Given the description of an element on the screen output the (x, y) to click on. 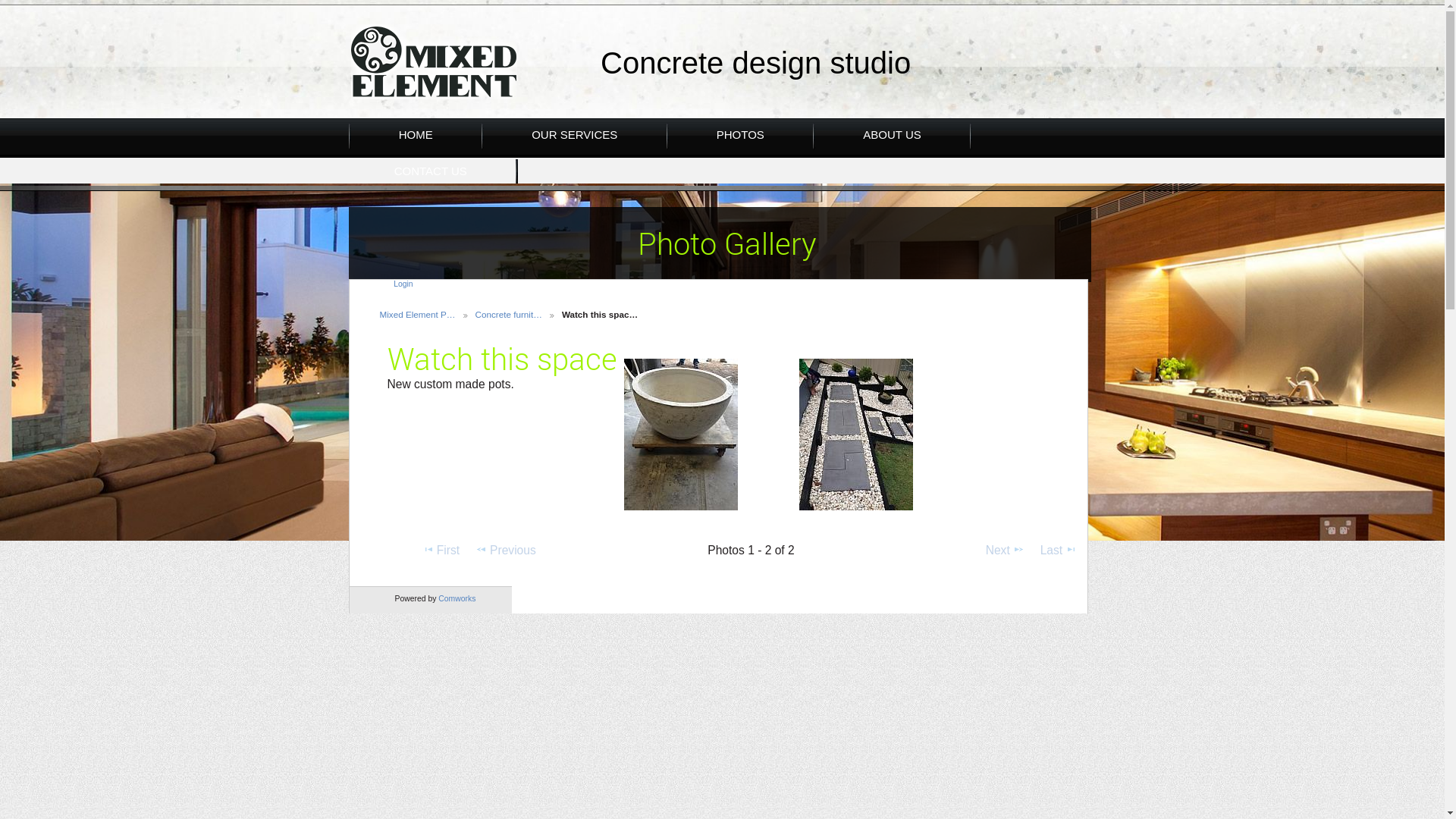
First Element type: text (440, 549)
Previous Element type: text (505, 549)
PHOTOS Element type: text (740, 134)
Login Element type: text (402, 283)
HOME Element type: text (415, 134)
OUR SERVICES Element type: text (574, 134)
Last Element type: text (1058, 549)
ABOUT US Element type: text (891, 134)
CONTACT US Element type: text (430, 170)
Next Element type: text (1004, 549)
Comworks Element type: text (456, 598)
